Given the description of an element on the screen output the (x, y) to click on. 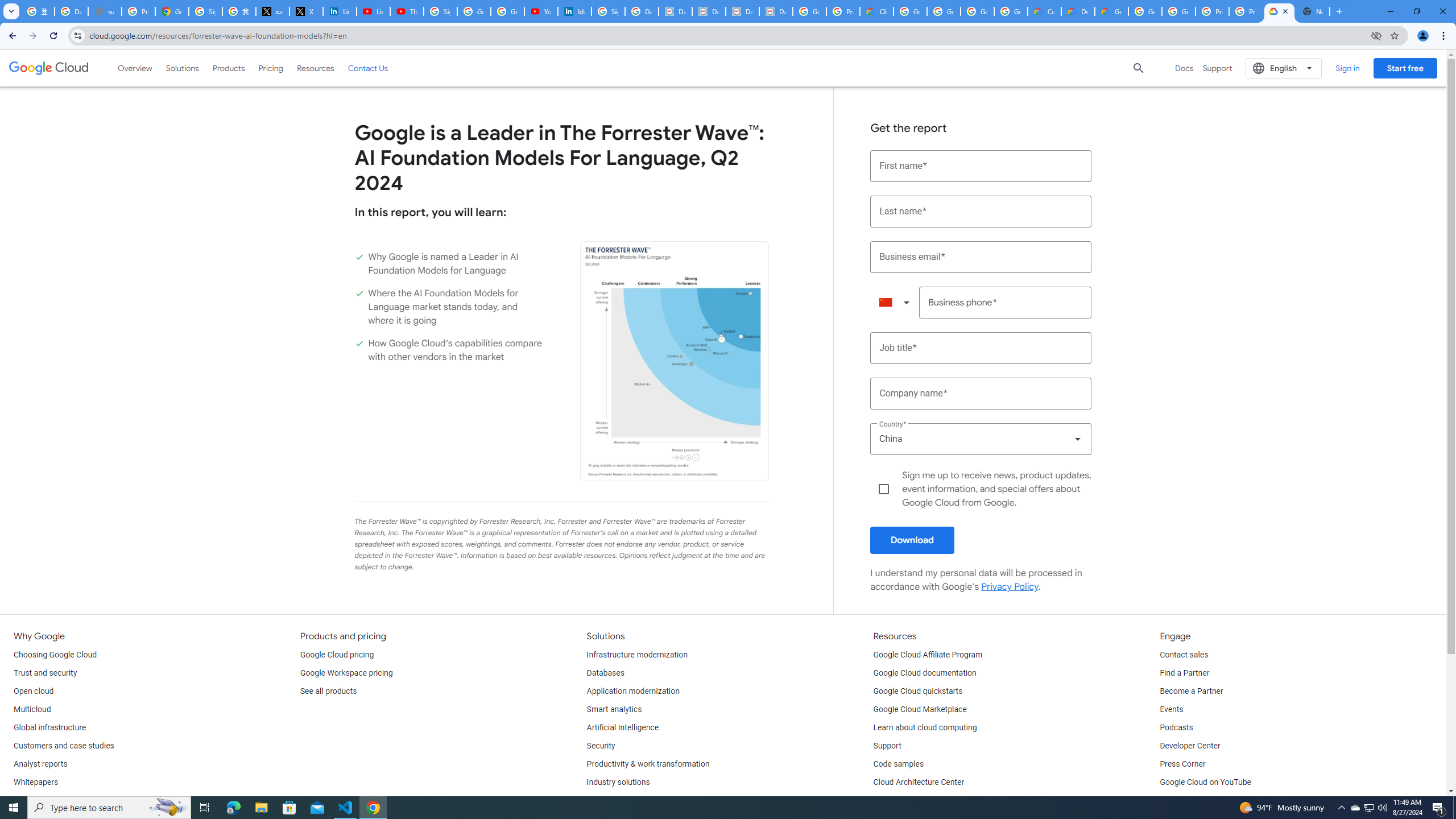
Learn about cloud computing (924, 728)
Google Cloud (48, 67)
Customer Care | Google Cloud (1043, 11)
Blog (21, 800)
Google Cloud quickstarts (917, 691)
